Given the description of an element on the screen output the (x, y) to click on. 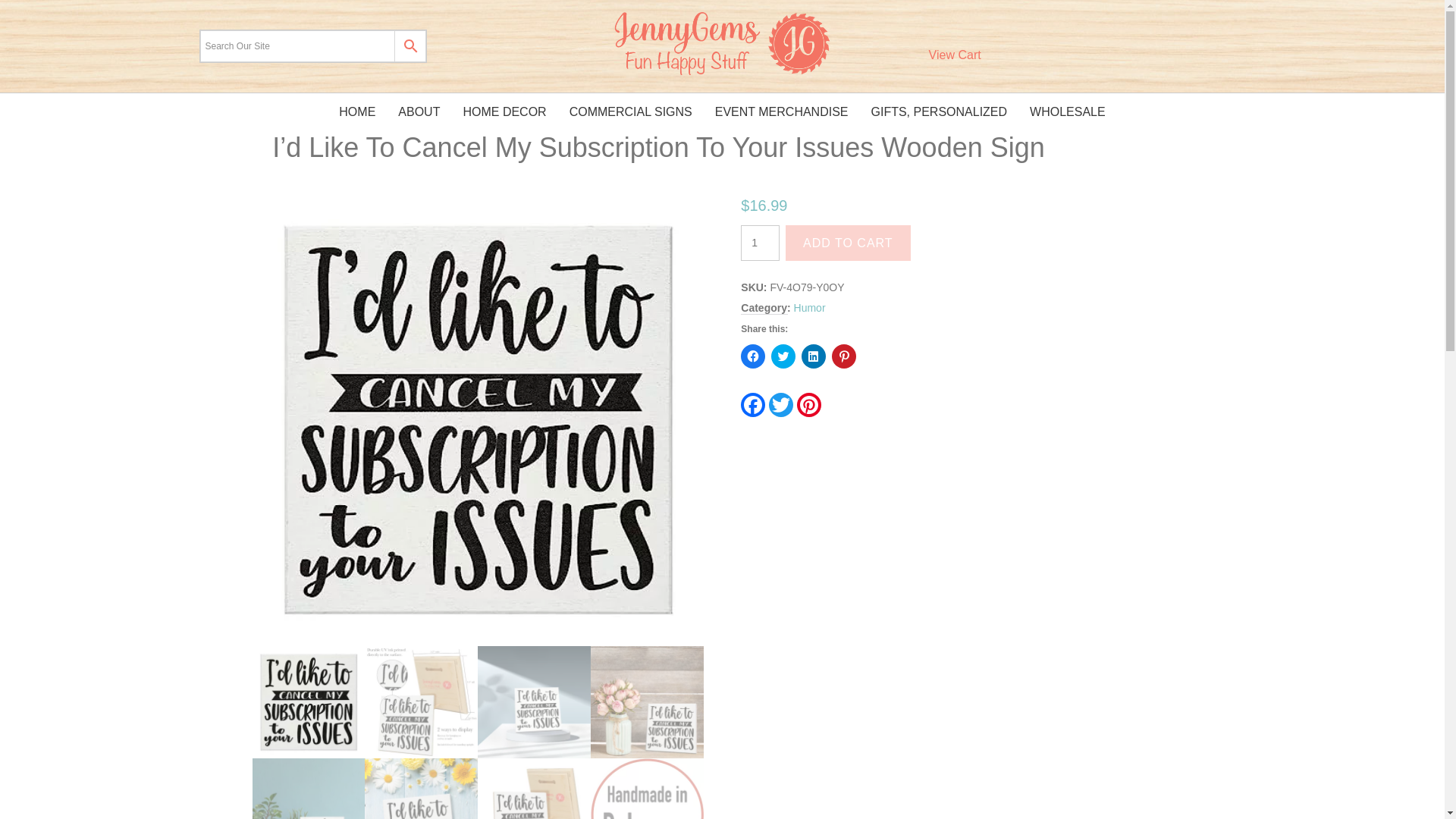
View Cart (953, 45)
ABOUT (419, 112)
Qty (759, 243)
HOME (357, 112)
Click to share on Pinterest (843, 355)
Click to share on LinkedIn (813, 355)
Click to share on Twitter (782, 355)
Click to share on Facebook (753, 355)
HOME DECOR (504, 112)
JennyGems (722, 43)
1 (759, 243)
